Given the description of an element on the screen output the (x, y) to click on. 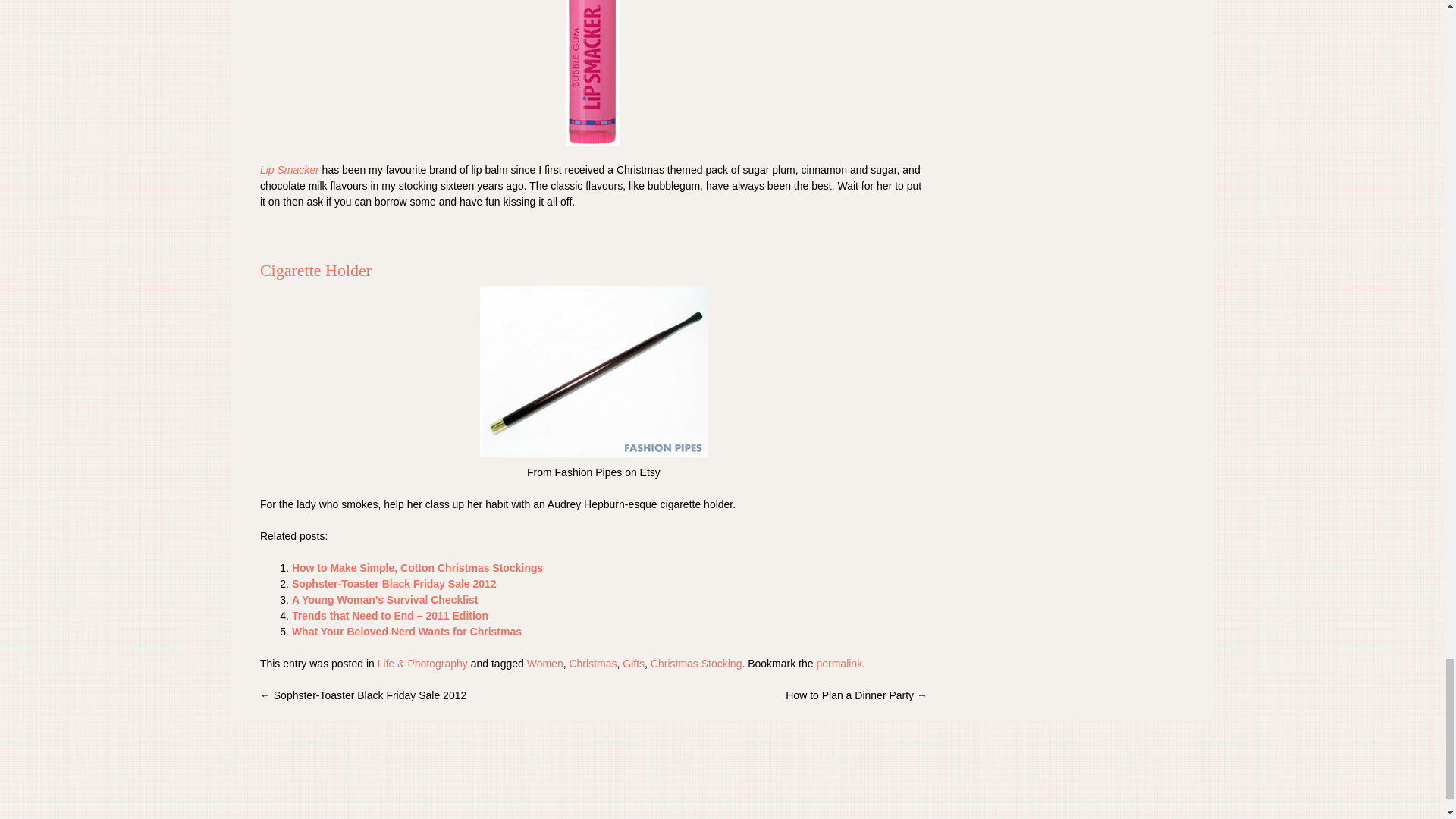
How to Make Simple, Cotton Christmas Stockings (417, 567)
Sophster-Toaster Black Friday Sale 2012 (394, 583)
Women (545, 663)
How to Make Simple, Cotton Christmas Stockings (417, 567)
What Your Beloved Nerd Wants for Christmas (406, 631)
Sophster-Toaster Black Friday Sale 2012 (394, 583)
cigarette holder (593, 370)
lip balm (593, 73)
Lip Smacker (289, 169)
